Given the description of an element on the screen output the (x, y) to click on. 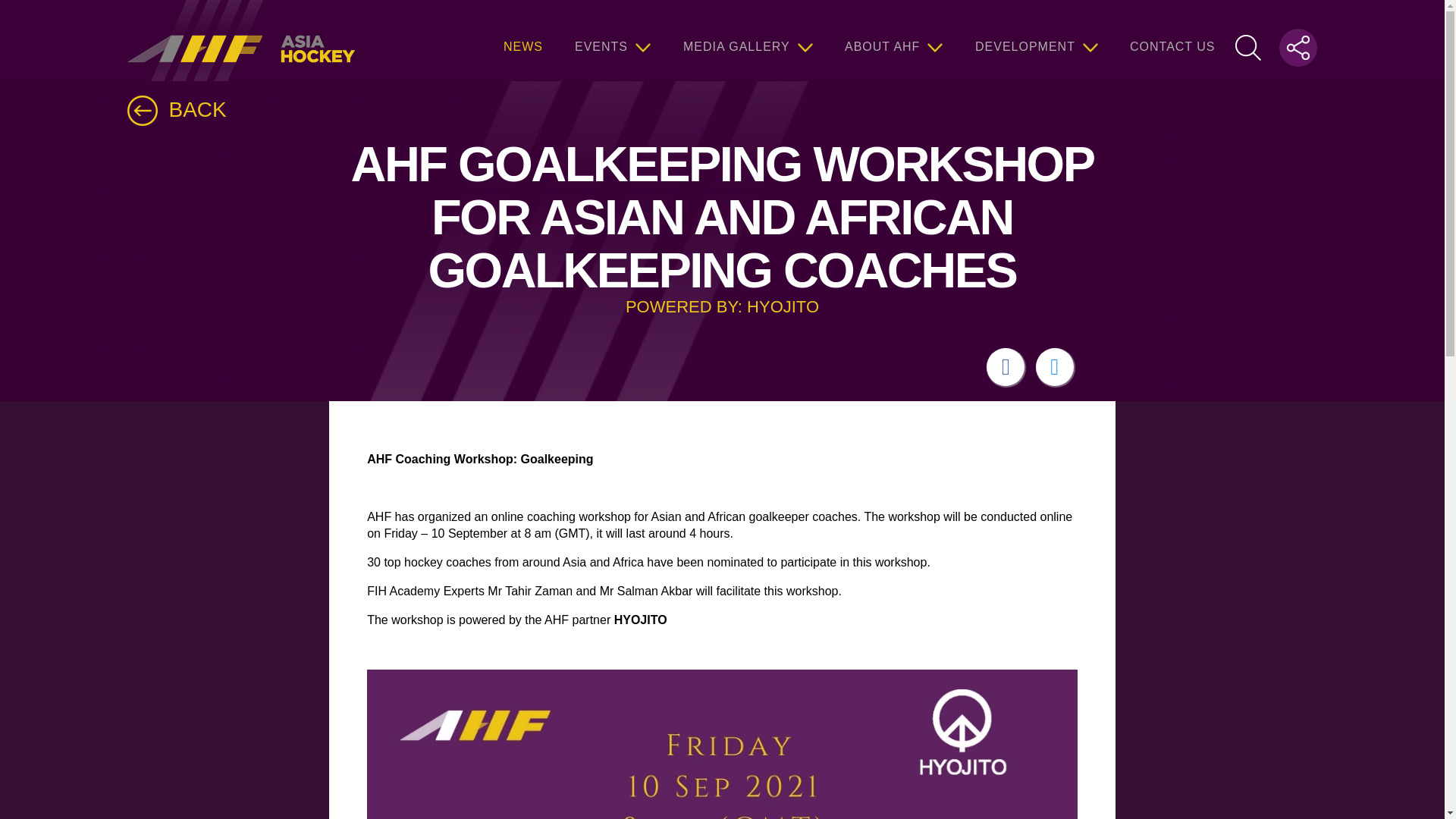
EVENTS (612, 40)
CONTACT US (1172, 40)
MEDIA GALLERY (747, 40)
ABOUT AHF (892, 40)
DEVELOPMENT (1036, 40)
